Given the description of an element on the screen output the (x, y) to click on. 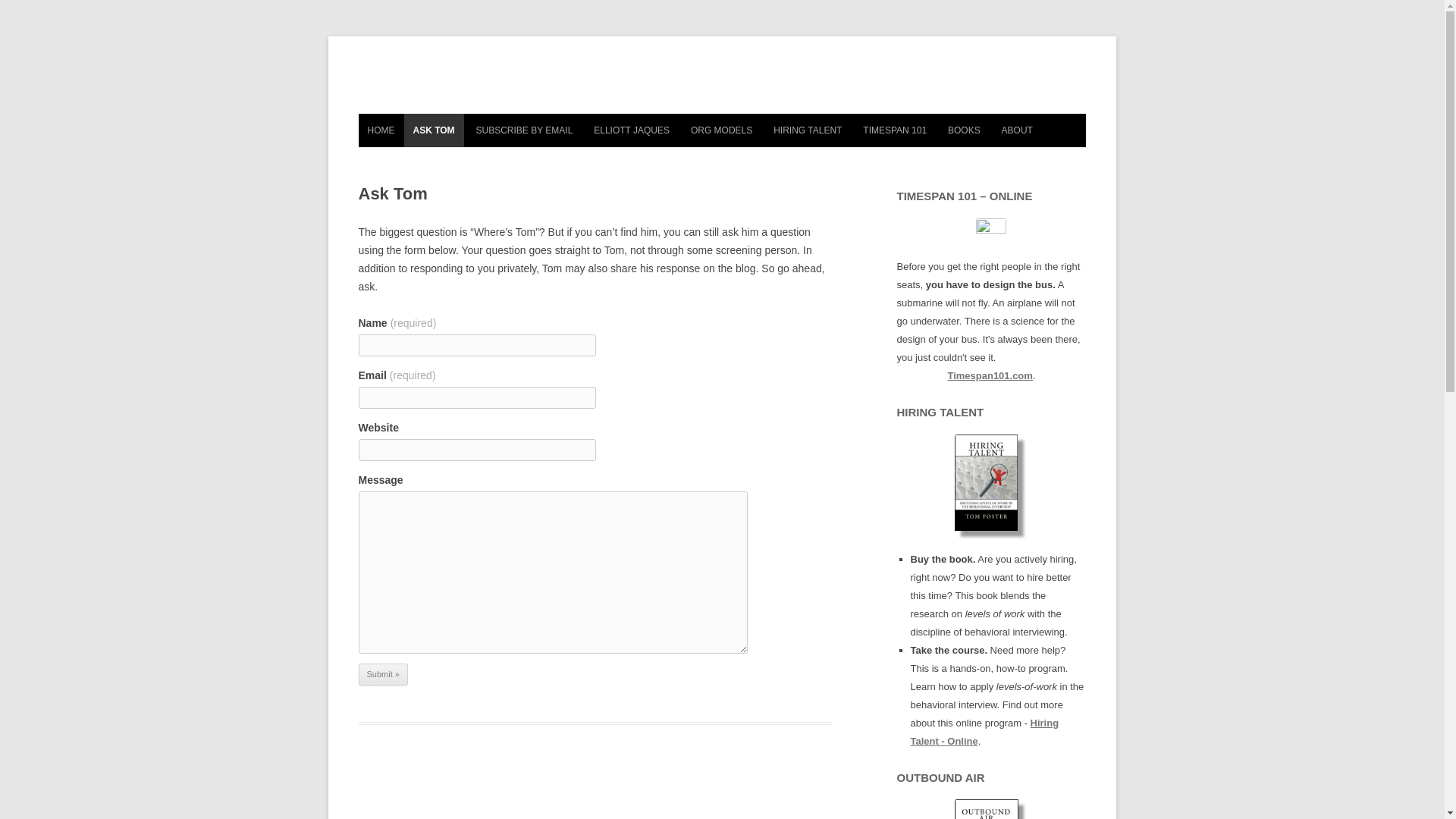
ASK TOM (433, 130)
ABOUT (1017, 130)
Timespan101.com (989, 375)
SUBSCRIBE BY EMAIL (524, 130)
ORG MODELS (721, 130)
BOOKS (964, 130)
HOME (380, 130)
Skip to content (757, 118)
Management Blog (722, 83)
ELLIOTT JAQUES (631, 130)
